Given the description of an element on the screen output the (x, y) to click on. 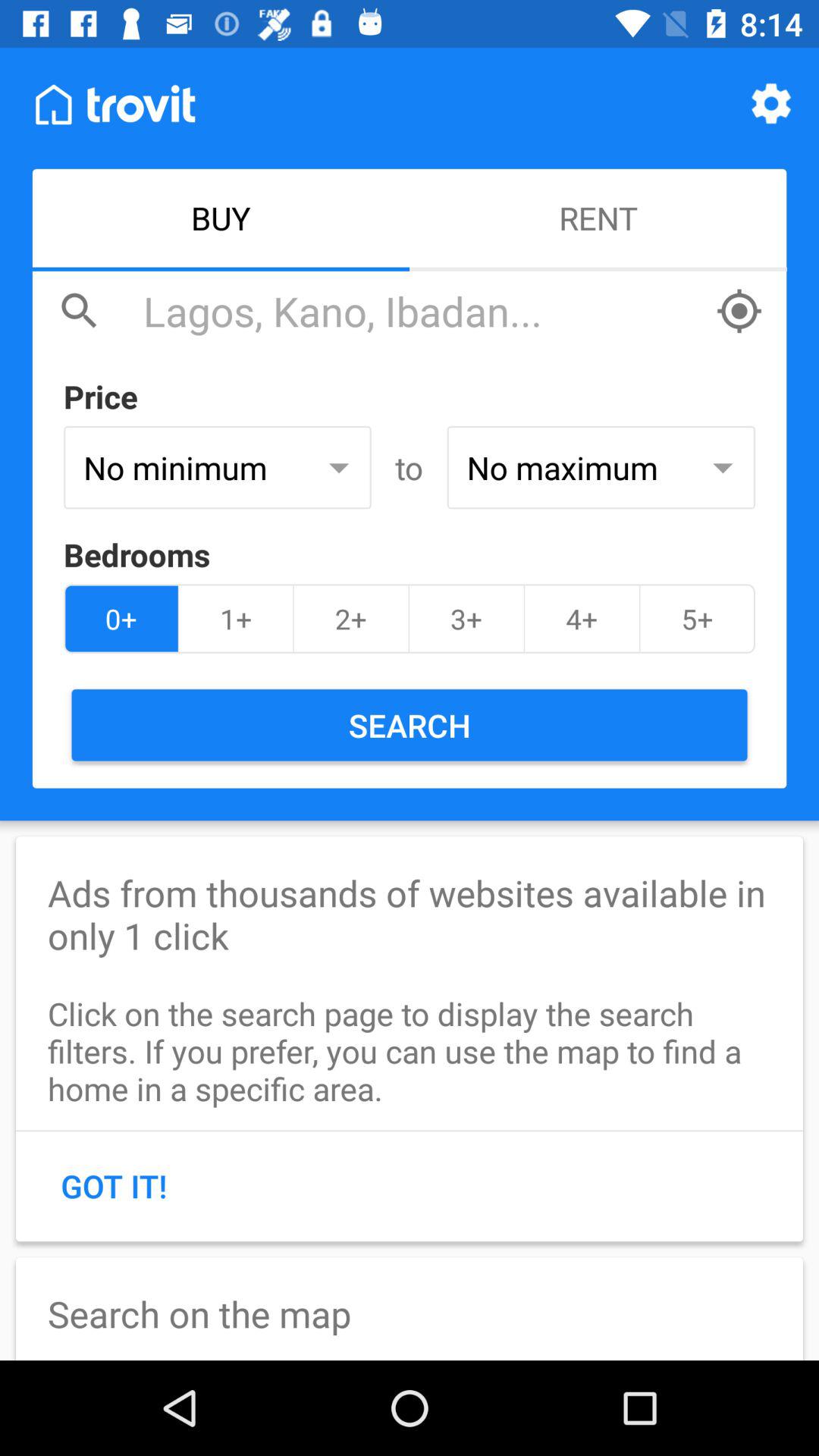
launch icon below the got it! item (409, 1308)
